Given the description of an element on the screen output the (x, y) to click on. 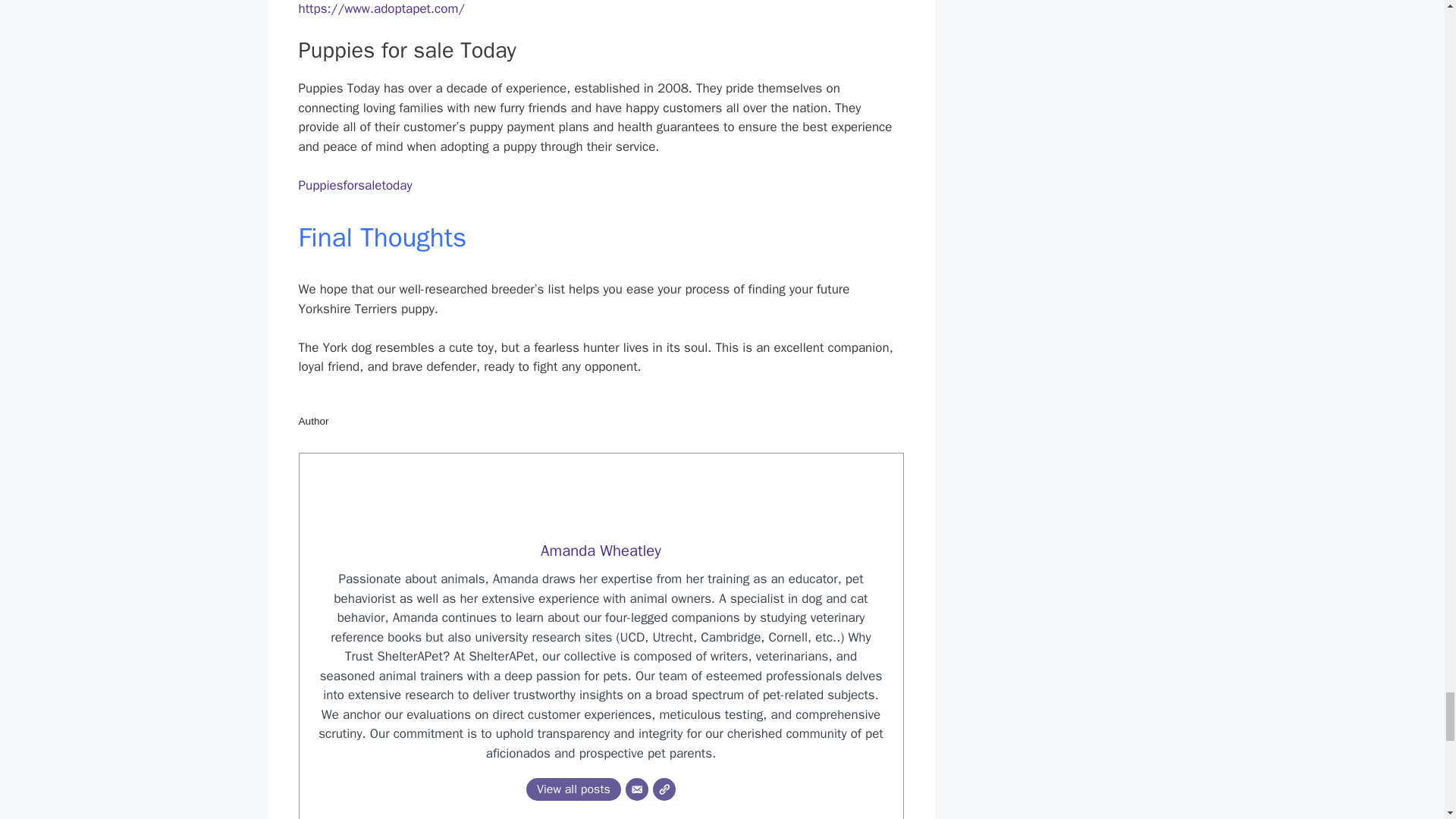
View all posts (573, 789)
Amanda Wheatley (600, 550)
Puppiesforsaletoday (355, 185)
View all posts (573, 789)
Amanda Wheatley (600, 550)
